Given the description of an element on the screen output the (x, y) to click on. 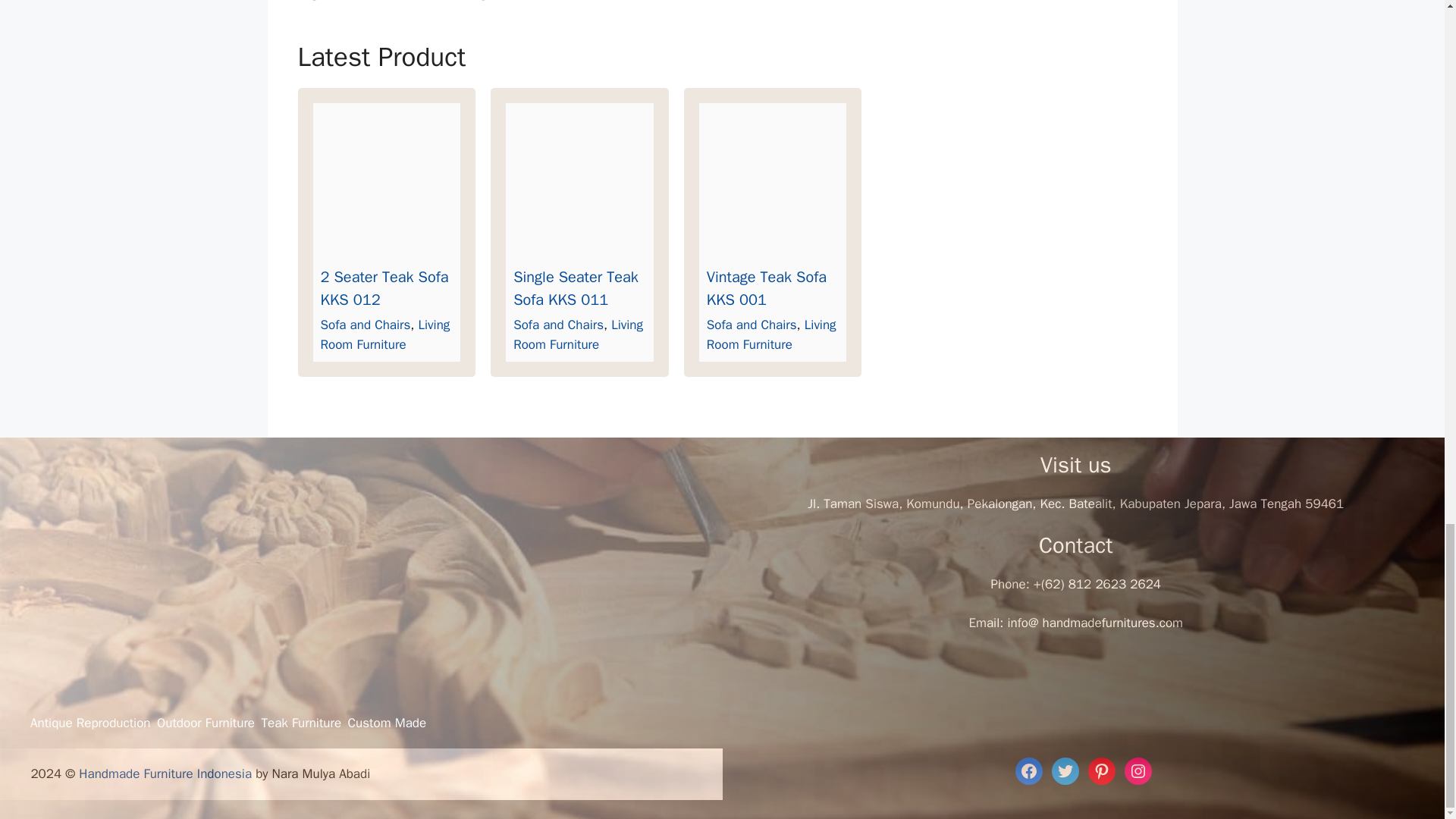
Living Room Furniture (578, 334)
Single Seater Teak Sofa KKS 011 (576, 288)
Living Room Furniture (770, 334)
Scroll back to top (1406, 58)
2 seater sofa (369, 0)
2 Seater Teak Sofa KKS 012 (384, 288)
Living Room Furniture (384, 334)
Sofa and Chairs (365, 324)
Sofa and Chairs (558, 324)
classic living room sofa (480, 0)
Custom Made Furniture From Indonesia (386, 723)
Antique Reproduction Furniture Indonesia (90, 723)
Teak Furniture Indonesia For Indoors (300, 723)
Sofa and Chairs (751, 324)
Teak Outdoor Furniture Indonesia (205, 723)
